Given the description of an element on the screen output the (x, y) to click on. 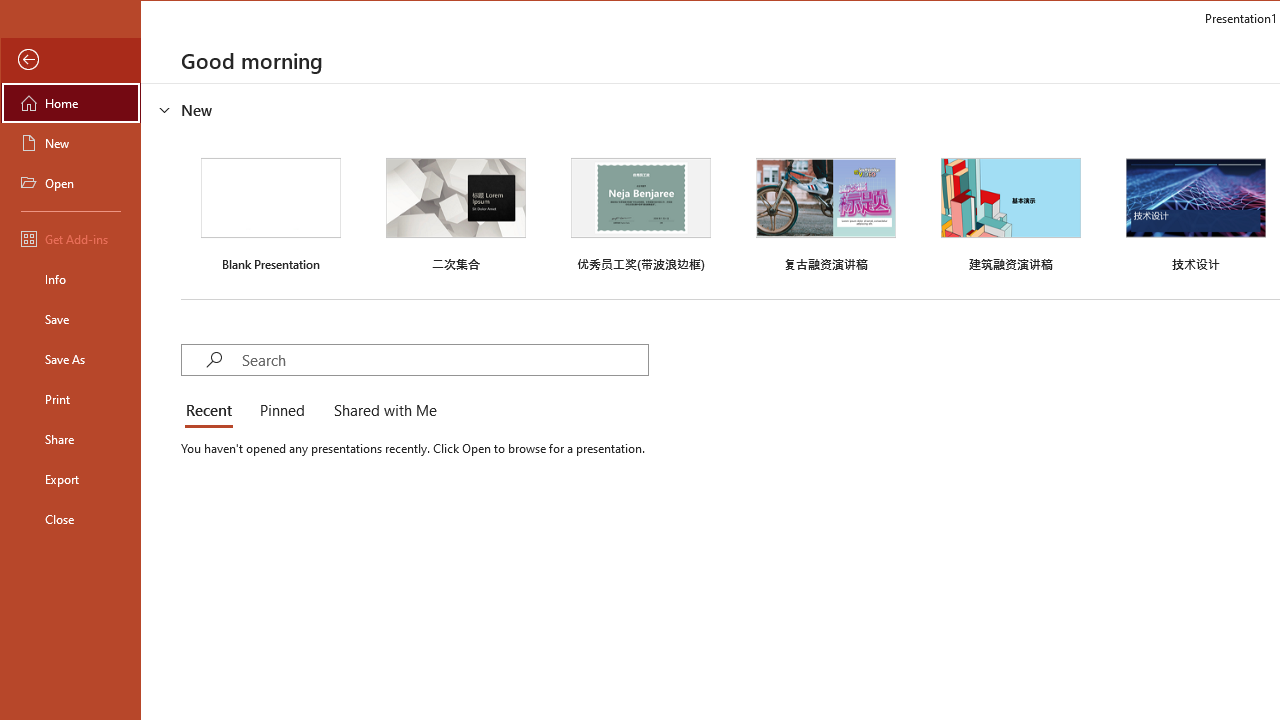
Blank Presentation (270, 212)
New (70, 142)
Pinned (281, 411)
Back (70, 60)
